Given the description of an element on the screen output the (x, y) to click on. 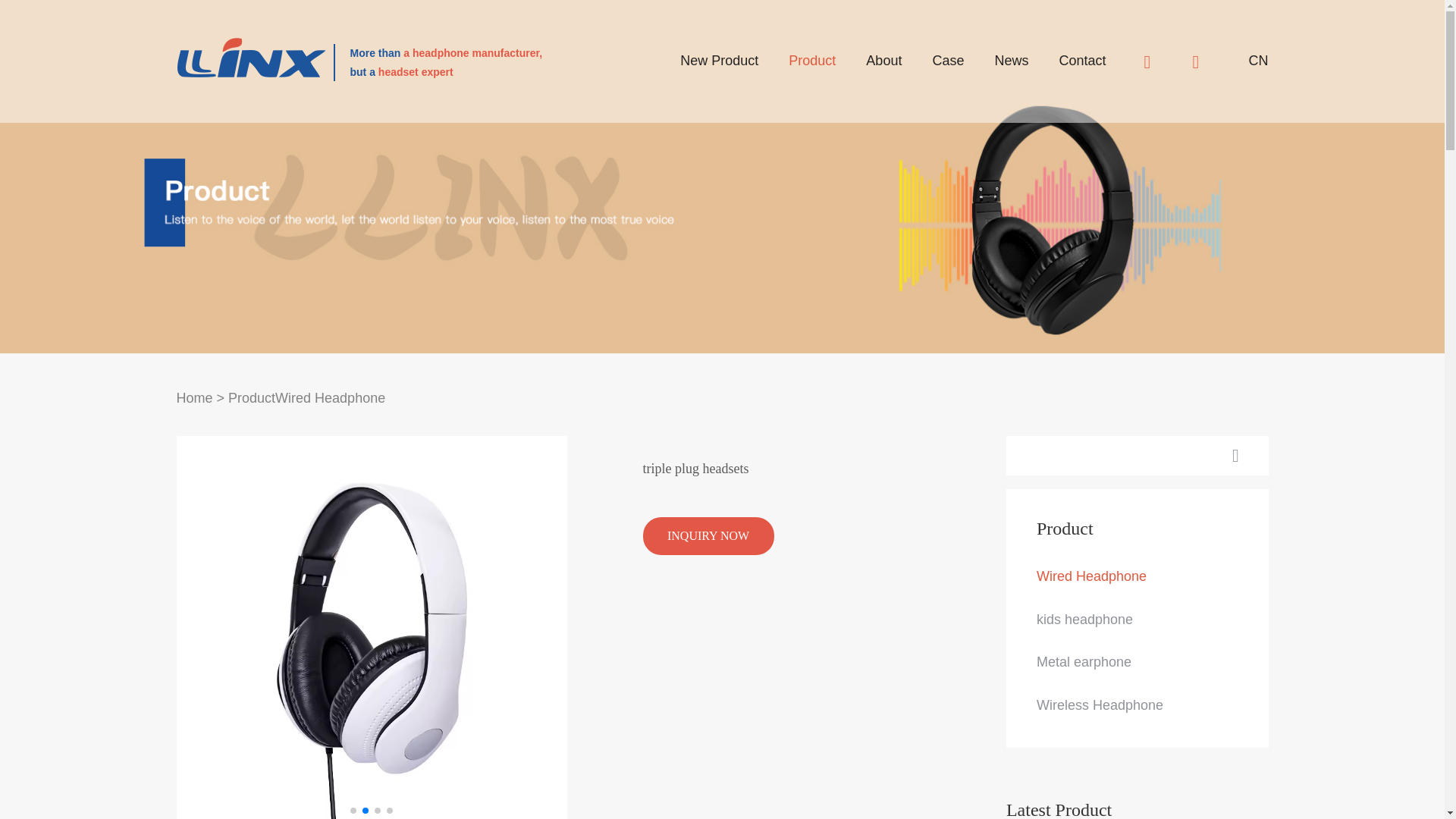
Case (947, 60)
About (883, 60)
CN (1257, 60)
Wired Headphone (1091, 575)
Product (812, 60)
Wired Headphone (330, 397)
Wireless Headphone (1099, 704)
Contact (1081, 60)
Home (194, 397)
kids headphone (1084, 619)
